Given the description of an element on the screen output the (x, y) to click on. 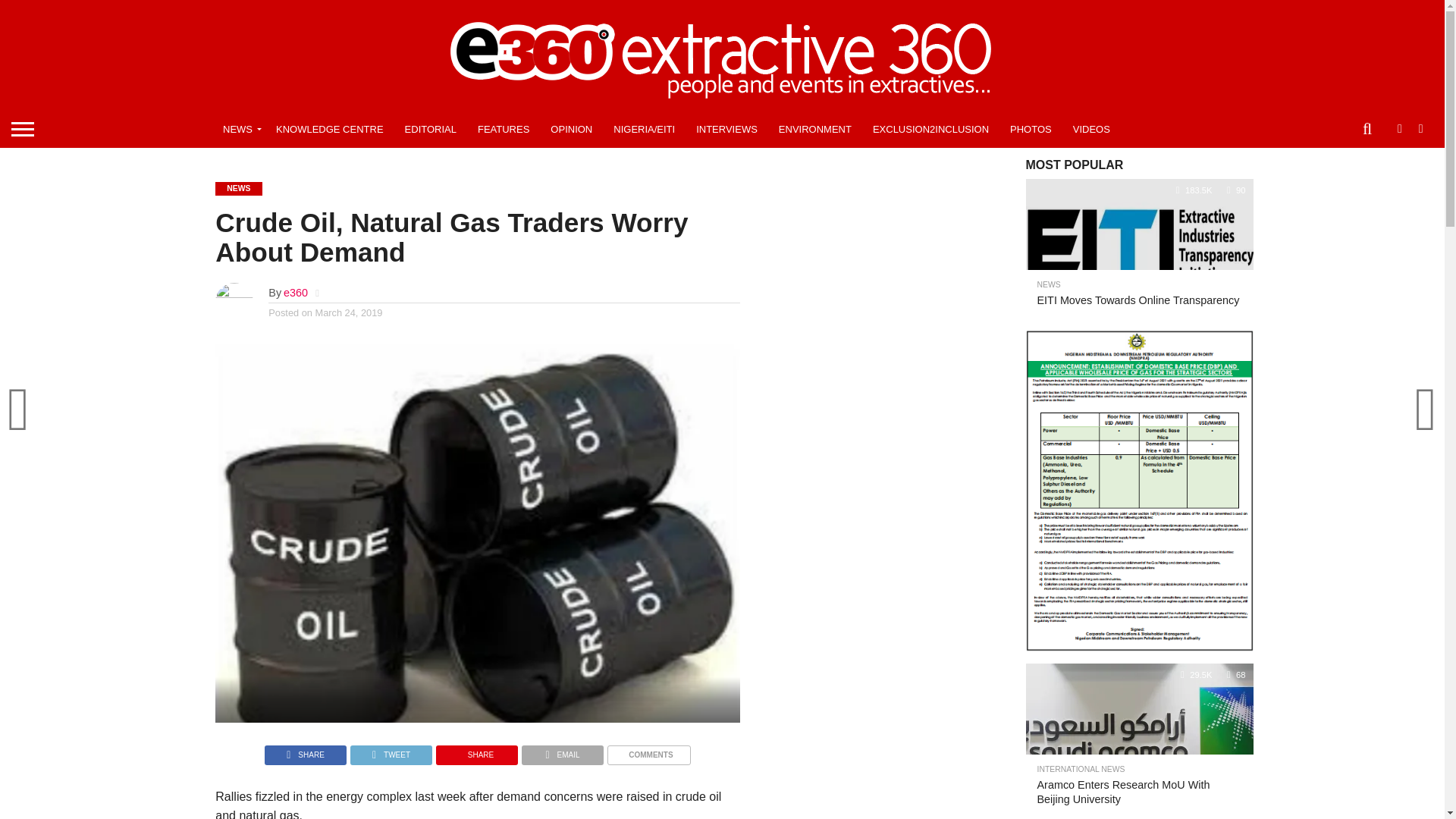
KNOWLEDGE CENTRE (329, 128)
COMMENTS (648, 750)
Posts by e360 (295, 292)
EXCLUSION2INCLUSION (929, 128)
VIDEOS (1091, 128)
ENVIRONMENT (814, 128)
PHOTOS (1030, 128)
SHARE (476, 750)
SHARE (305, 750)
Pin This Post (476, 750)
OPINION (571, 128)
INTERVIEWS (726, 128)
FEATURES (503, 128)
e360 (295, 292)
NEWS (238, 128)
